Given the description of an element on the screen output the (x, y) to click on. 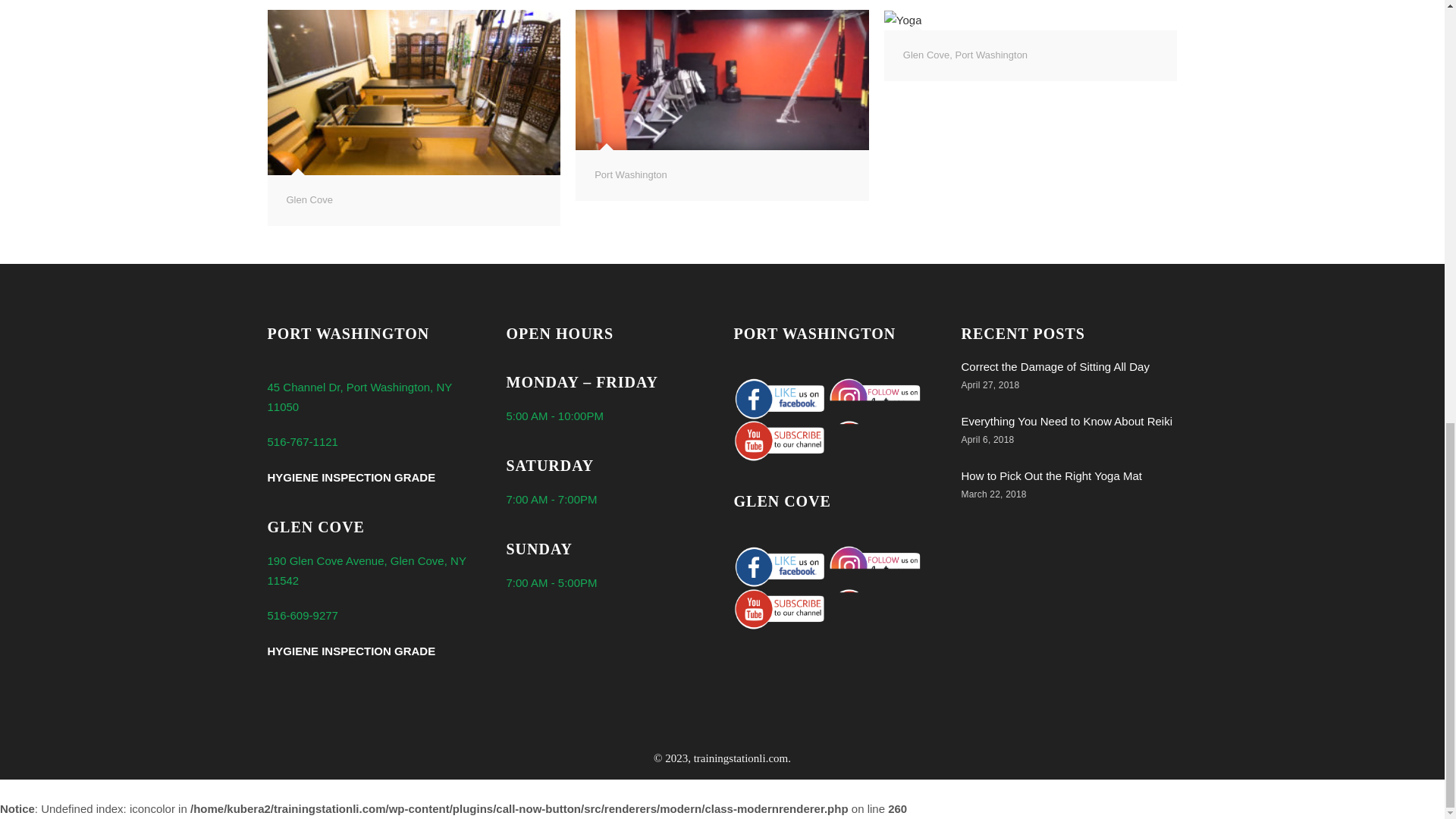
How to Pick Out the Right Yoga Mat (1050, 475)
Port Washington (630, 174)
Port Washington (630, 174)
HYGIENE INSPECTION GRADE (350, 477)
Glen Cove (309, 199)
Correct the Damage of Sitting All Day (1055, 366)
HYGIENE INSPECTION GRADE (350, 650)
Glen Cove (309, 199)
Glen Cove (925, 54)
Port Washington (991, 54)
